Given the description of an element on the screen output the (x, y) to click on. 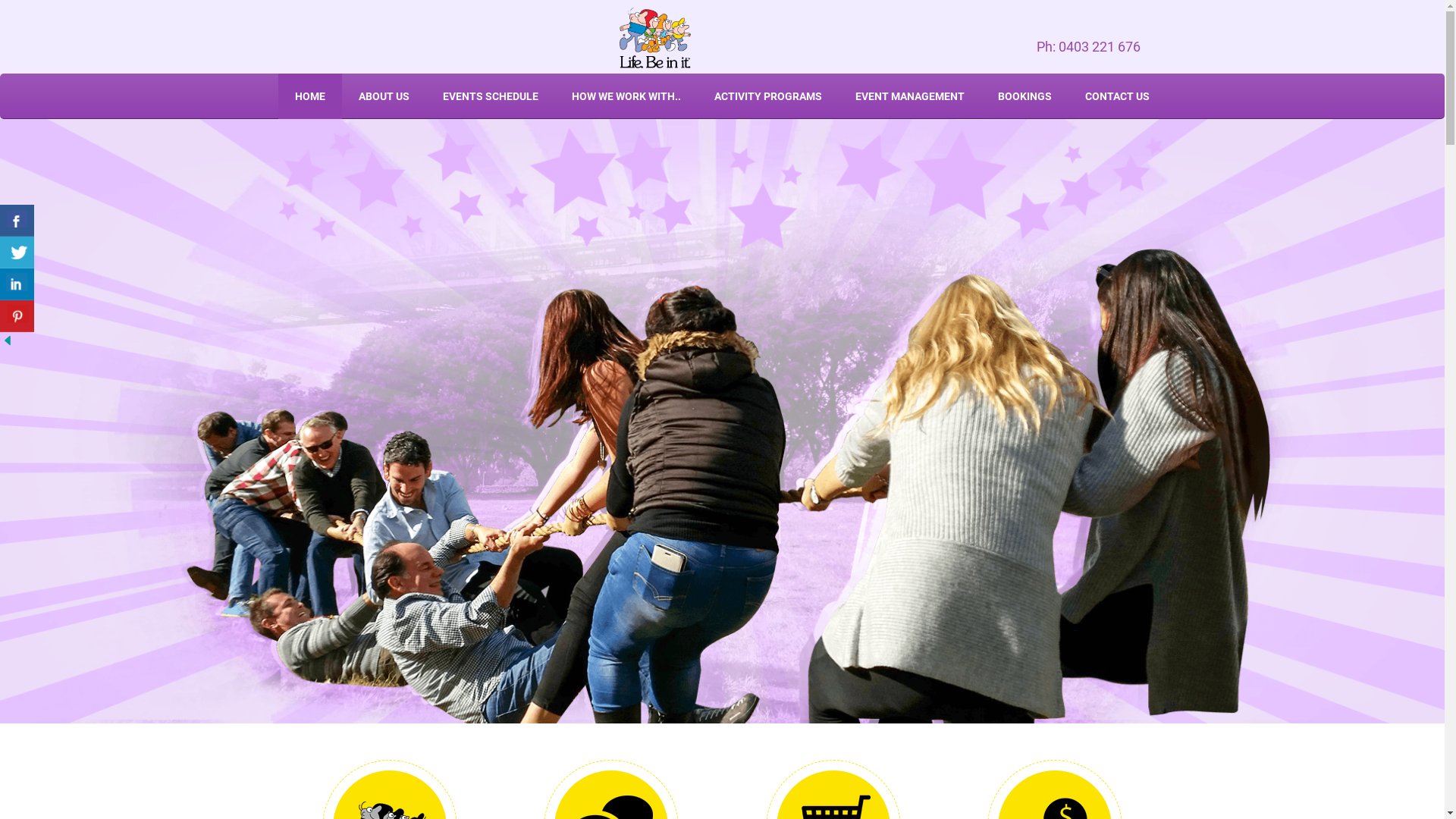
Ph: 0403 221 676 Element type: text (654, 37)
CONTACT US Element type: text (1116, 96)
HOW WE WORK WITH.. Element type: text (626, 96)
ACTIVITY PROGRAMS Element type: text (767, 96)
Share On Pinterest Element type: hover (17, 316)
ABOUT US Element type: text (383, 96)
Share On Linkedin Element type: hover (17, 284)
Share This With Your Friends Element type: hover (18, 276)
Hide Buttons Element type: hover (7, 339)
HOME Element type: text (309, 96)
BOOKINGS Element type: text (1024, 96)
Share On Facebook Element type: hover (17, 220)
Share On Twitter Element type: hover (17, 252)
EVENT MANAGEMENT Element type: text (909, 96)
EVENTS SCHEDULE Element type: text (490, 96)
